Given the description of an element on the screen output the (x, y) to click on. 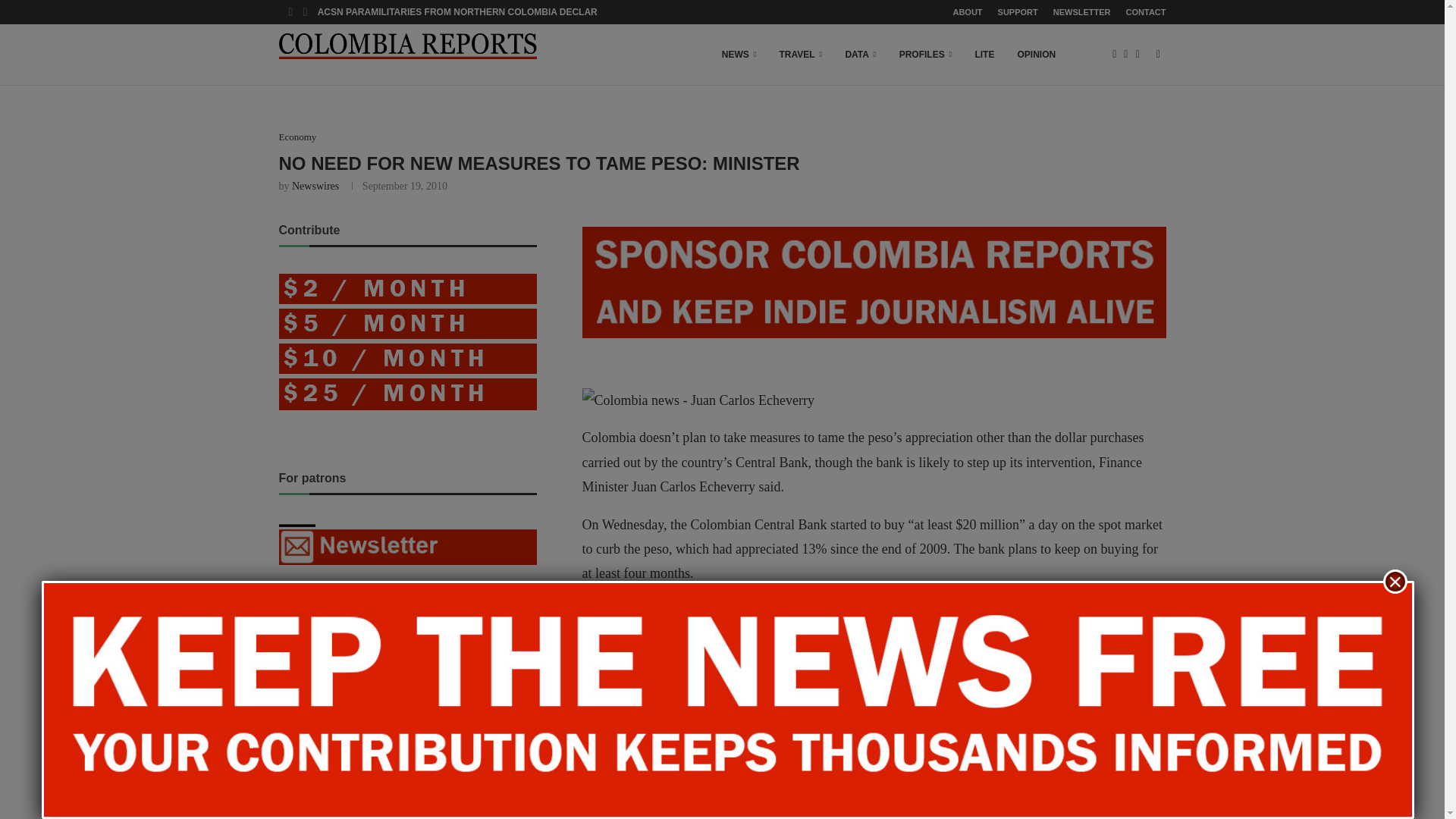
ACSN PARAMILITARIES FROM NORTHERN COLOMBIA DECLARE CEASEFIRE (487, 12)
NEWSLETTER (1081, 12)
CONTACT (1145, 12)
TRAVEL (801, 54)
SUPPORT (1017, 12)
ABOUT (966, 12)
NEWS (739, 54)
